Given the description of an element on the screen output the (x, y) to click on. 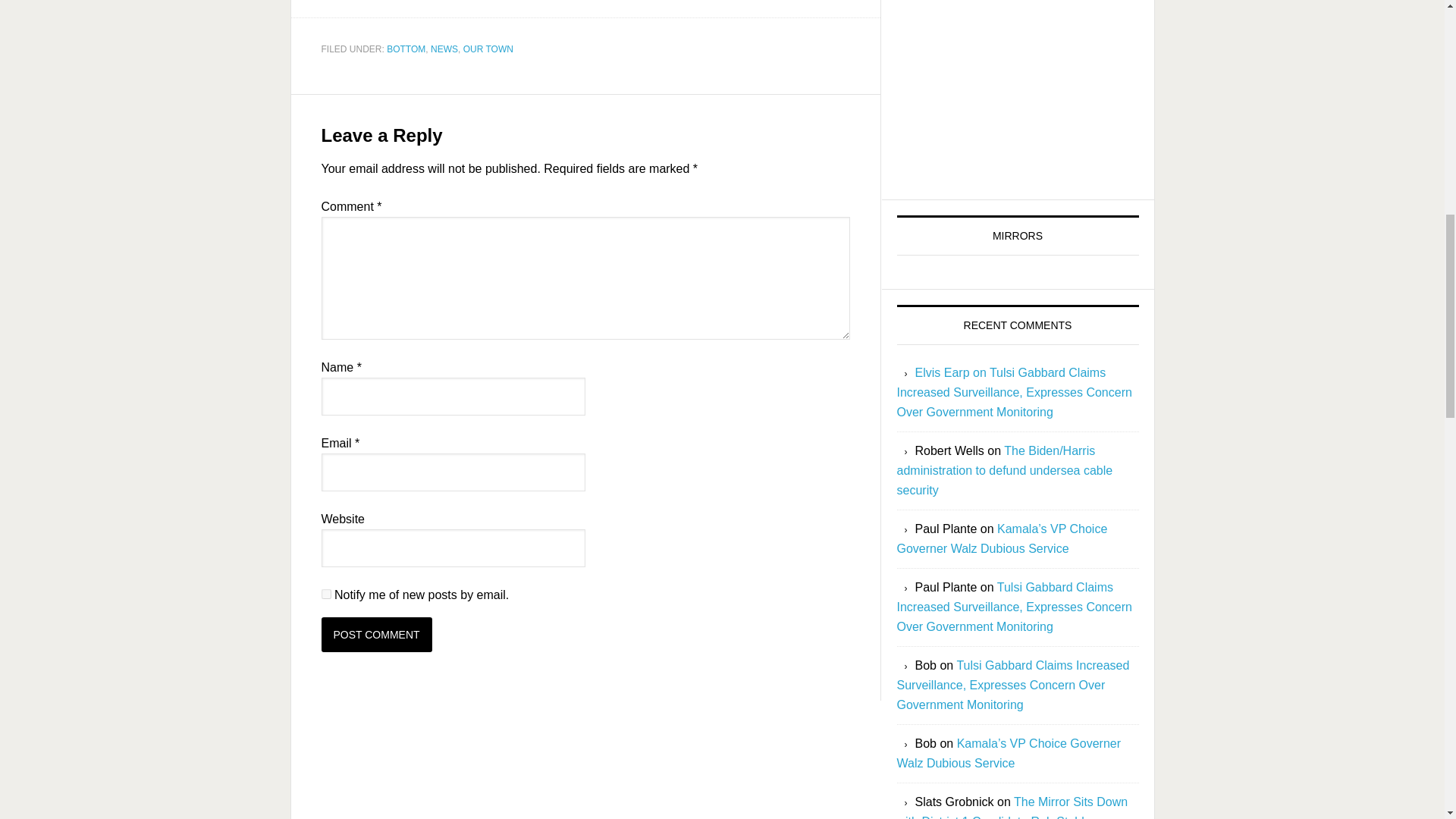
BOTTOM (406, 49)
NEWS (444, 49)
MIRRORS (1016, 144)
Advertisement (1017, 92)
Post Comment (376, 634)
RECENT COMMENTS (1017, 324)
Elvis Earp on (951, 372)
Post Comment (376, 634)
